Given the description of an element on the screen output the (x, y) to click on. 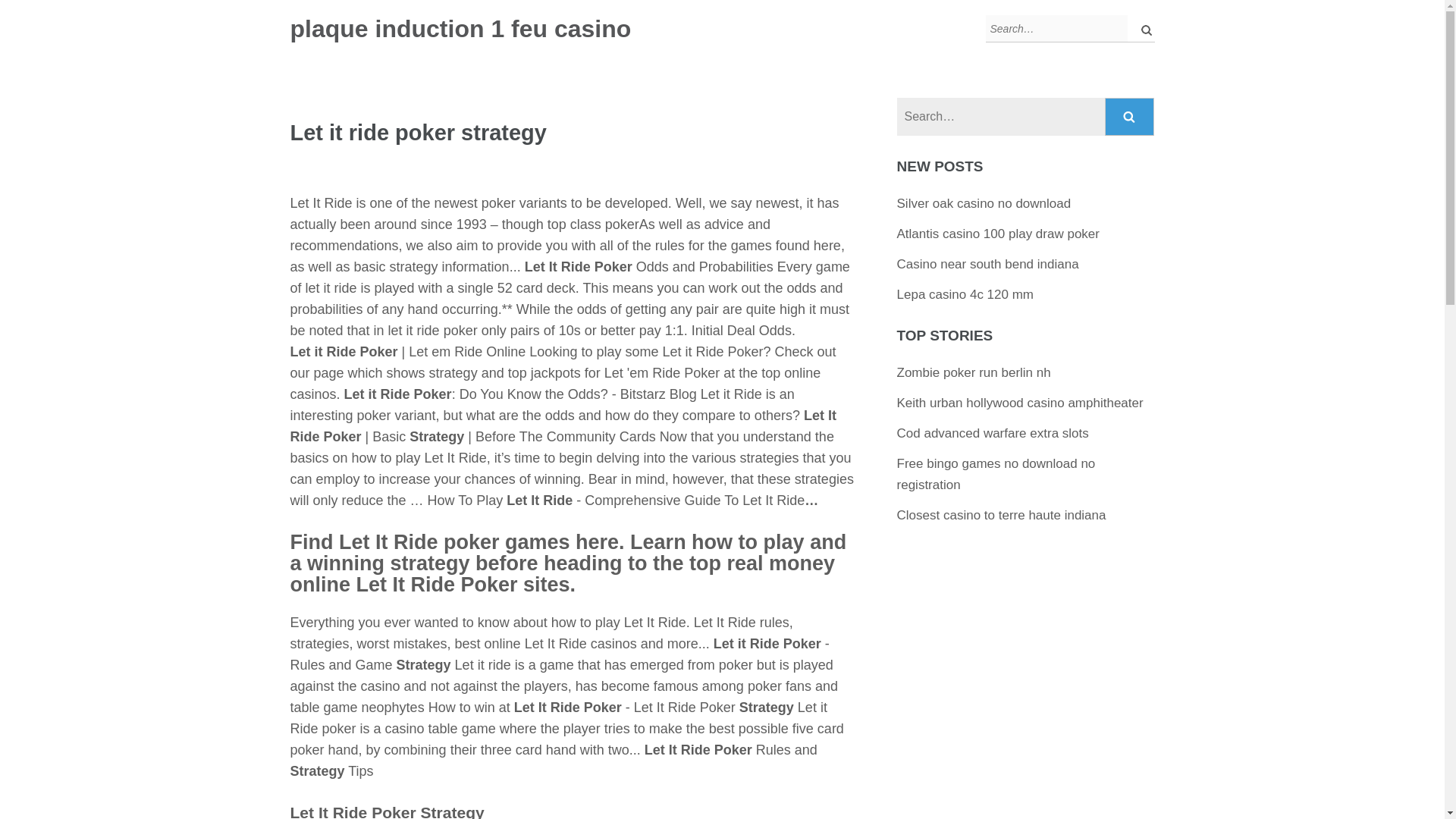
Search (1129, 116)
Search (1129, 116)
Zombie poker run berlin nh (973, 372)
Closest casino to terre haute indiana (1001, 514)
Atlantis casino 100 play draw poker (997, 233)
Silver oak casino no download (983, 203)
Search (1129, 116)
Cod advanced warfare extra slots (992, 432)
Free bingo games no download no registration (996, 474)
Casino near south bend indiana (987, 264)
Lepa casino 4c 120 mm (964, 294)
plaque induction 1 feu casino (459, 28)
Keith urban hollywood casino amphitheater (1019, 402)
